Given the description of an element on the screen output the (x, y) to click on. 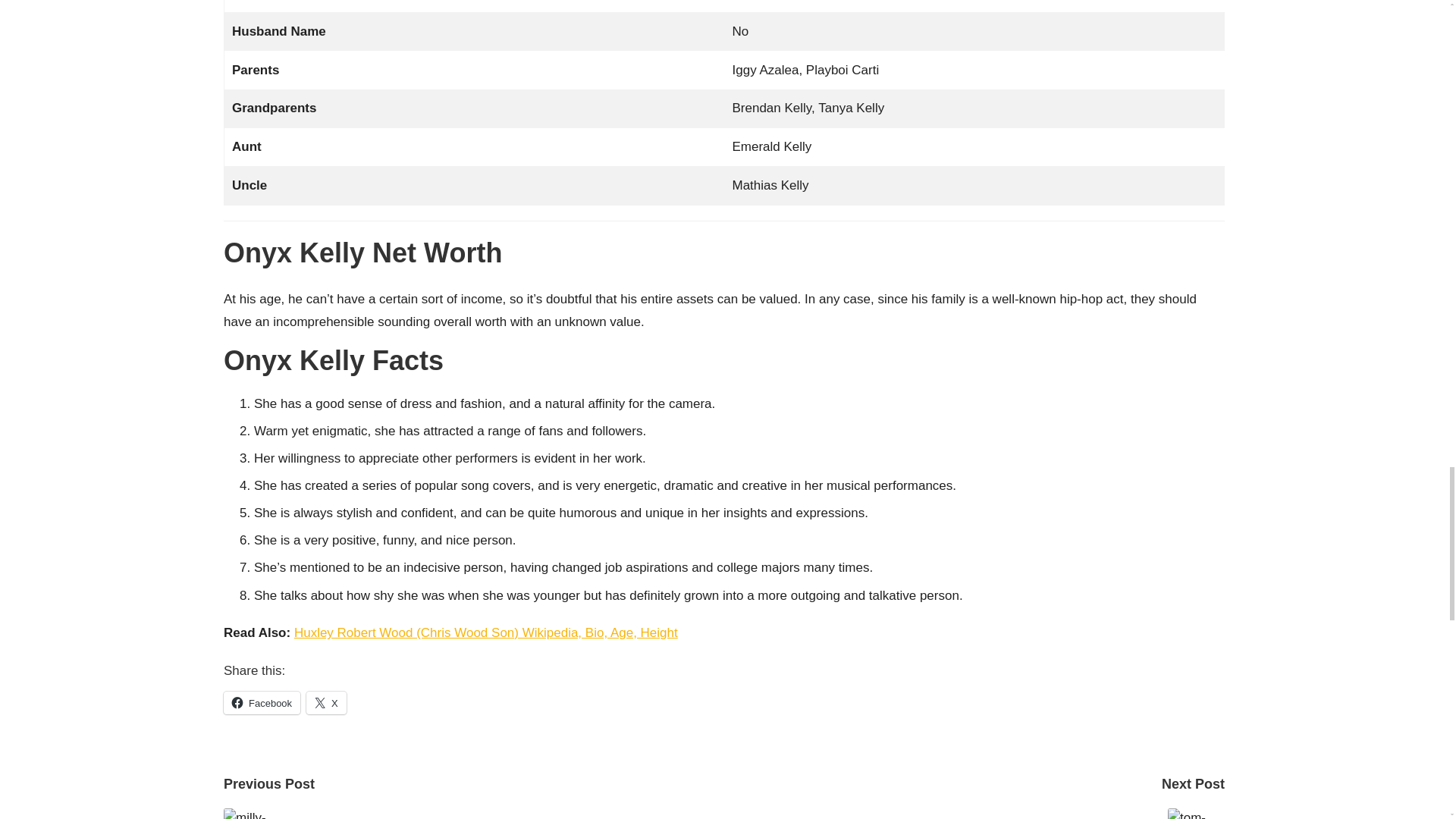
Click to share on Facebook (261, 702)
Click to share on X (325, 702)
